Given the description of an element on the screen output the (x, y) to click on. 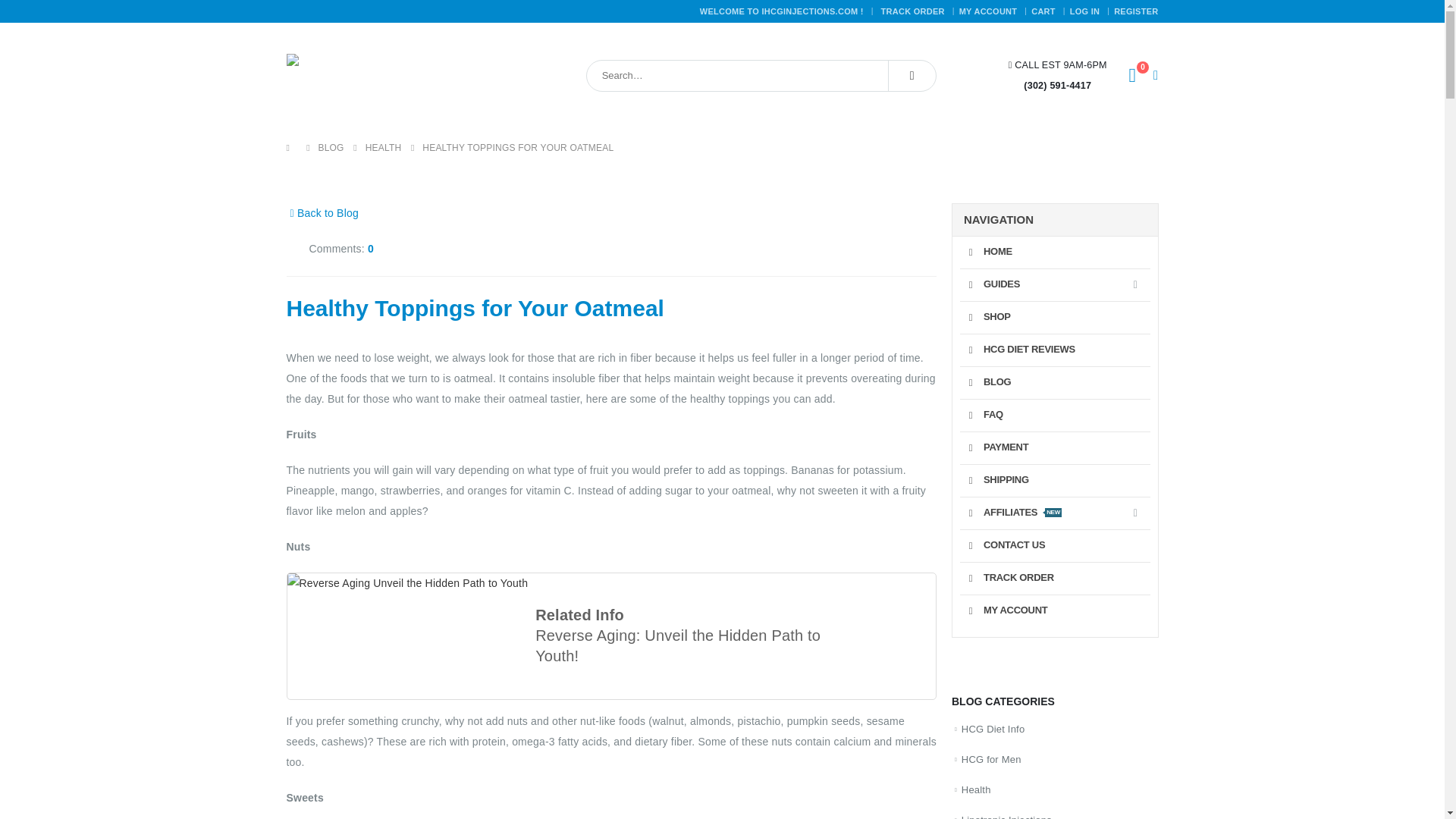
BLOG (330, 148)
CART (1044, 11)
HEALTH (383, 148)
Back to Blog (322, 213)
LOG IN (611, 636)
REGISTER (1085, 11)
TRACK ORDER (1135, 11)
Search (914, 11)
MY ACCOUNT (912, 75)
